Given the description of an element on the screen output the (x, y) to click on. 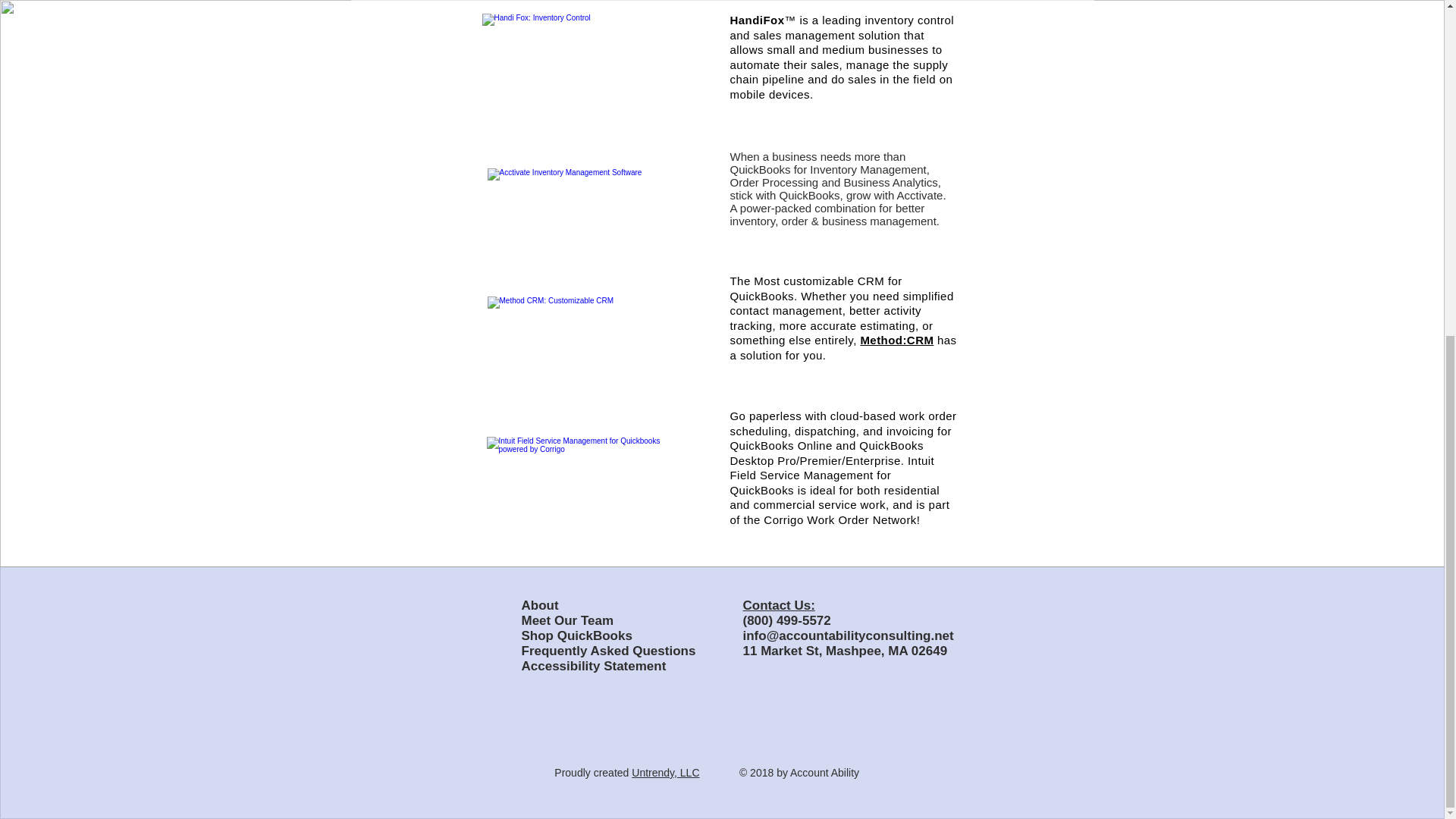
Shop QuickBooks  (578, 635)
Meet Our Team (567, 620)
Accessibility Statement (593, 666)
Method:CRM (896, 339)
Untrendy, LLC (664, 772)
Frequently Asked Questions (608, 650)
About (540, 605)
Contact Us: (778, 605)
